Given the description of an element on the screen output the (x, y) to click on. 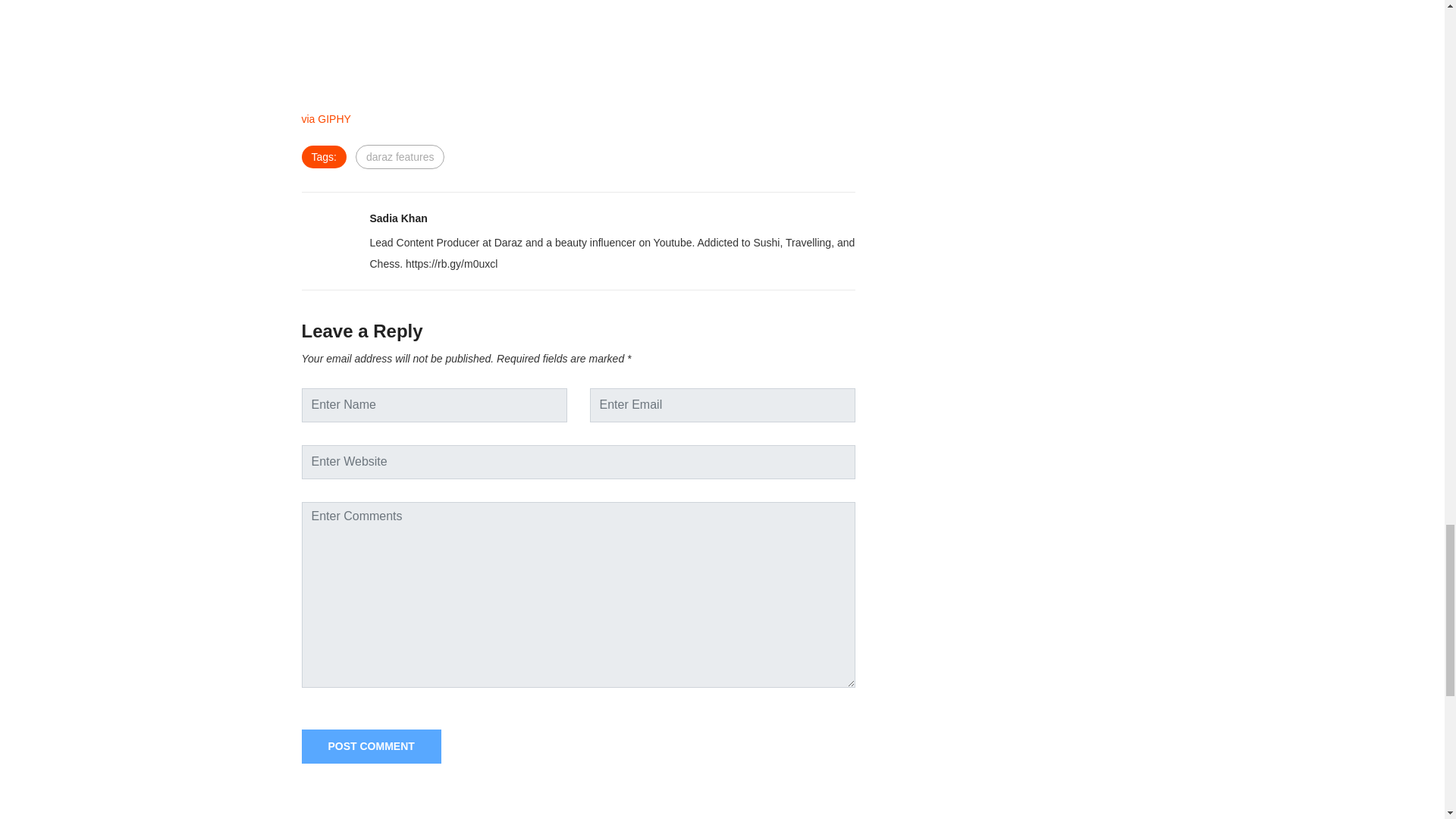
daraz features (400, 156)
Post Comment (371, 746)
Post Comment (371, 746)
via GIPHY (325, 119)
